Given the description of an element on the screen output the (x, y) to click on. 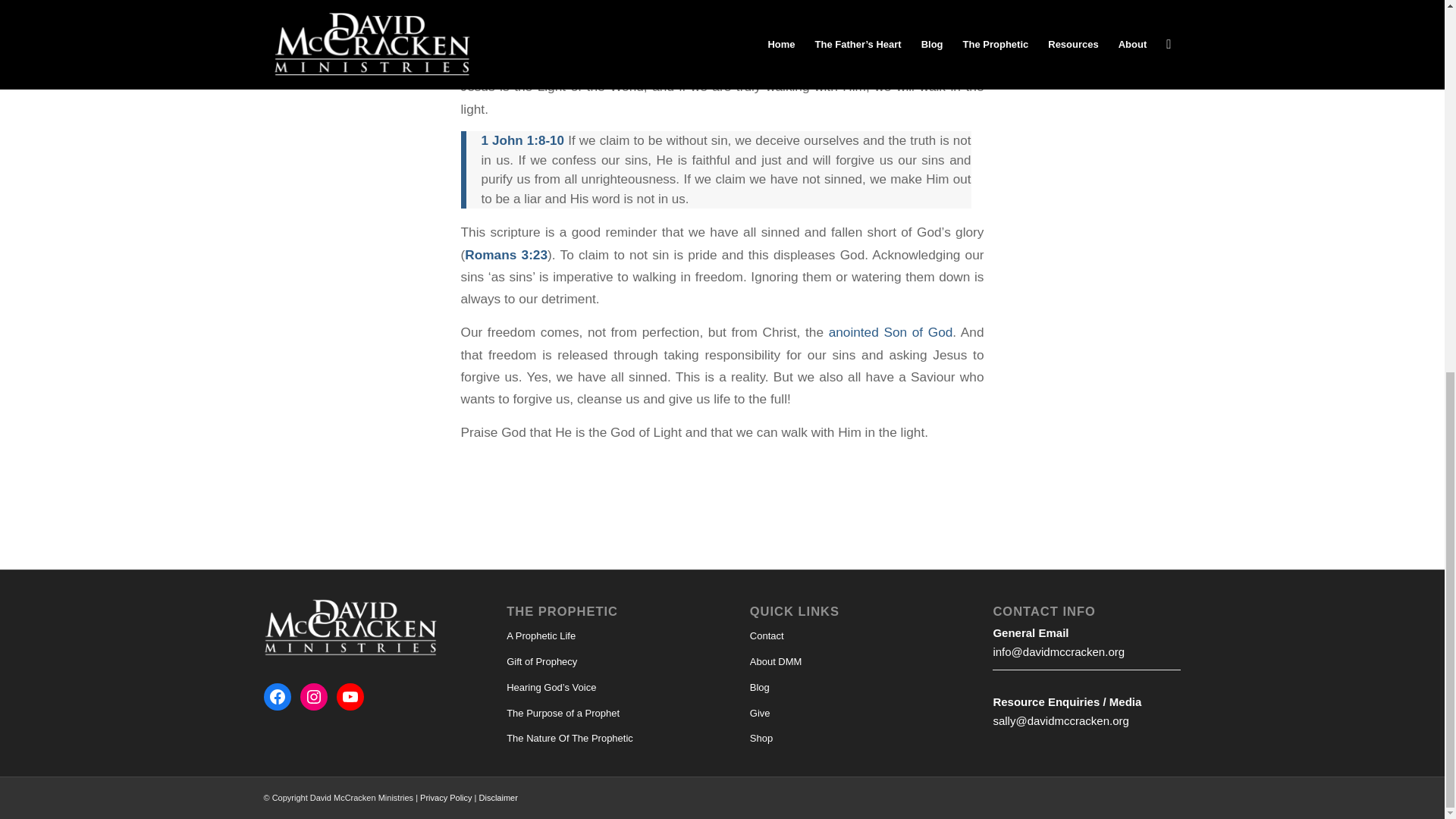
anointed Son of God (890, 331)
Romans 3:23 (505, 254)
1 John 1:8-10 (522, 140)
